Given the description of an element on the screen output the (x, y) to click on. 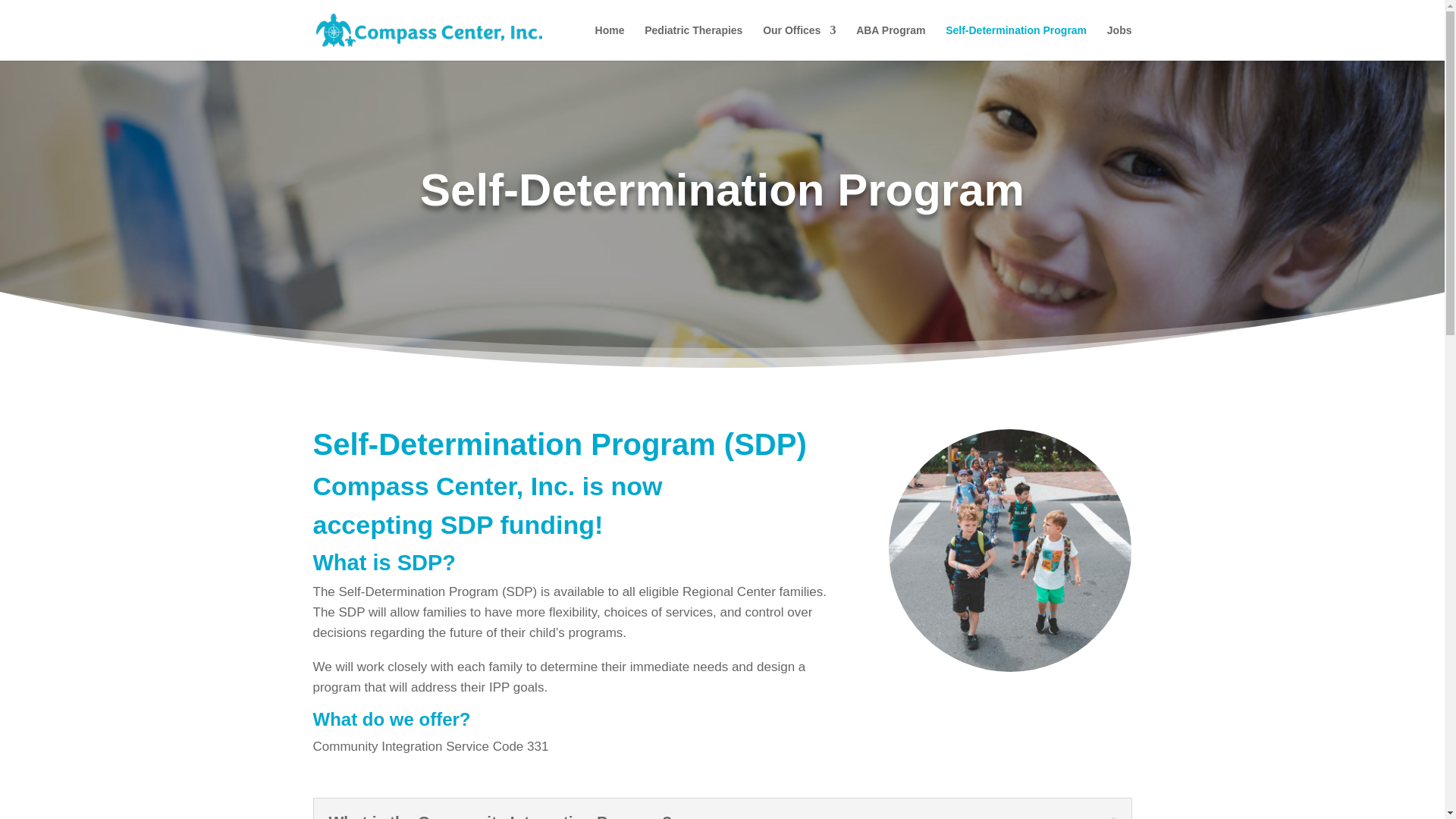
Our Offices (798, 42)
ABA Program (890, 42)
sdp-kids-road-650px (1009, 550)
Self-Determination Program (1015, 42)
Pediatric Therapies (693, 42)
